Given the description of an element on the screen output the (x, y) to click on. 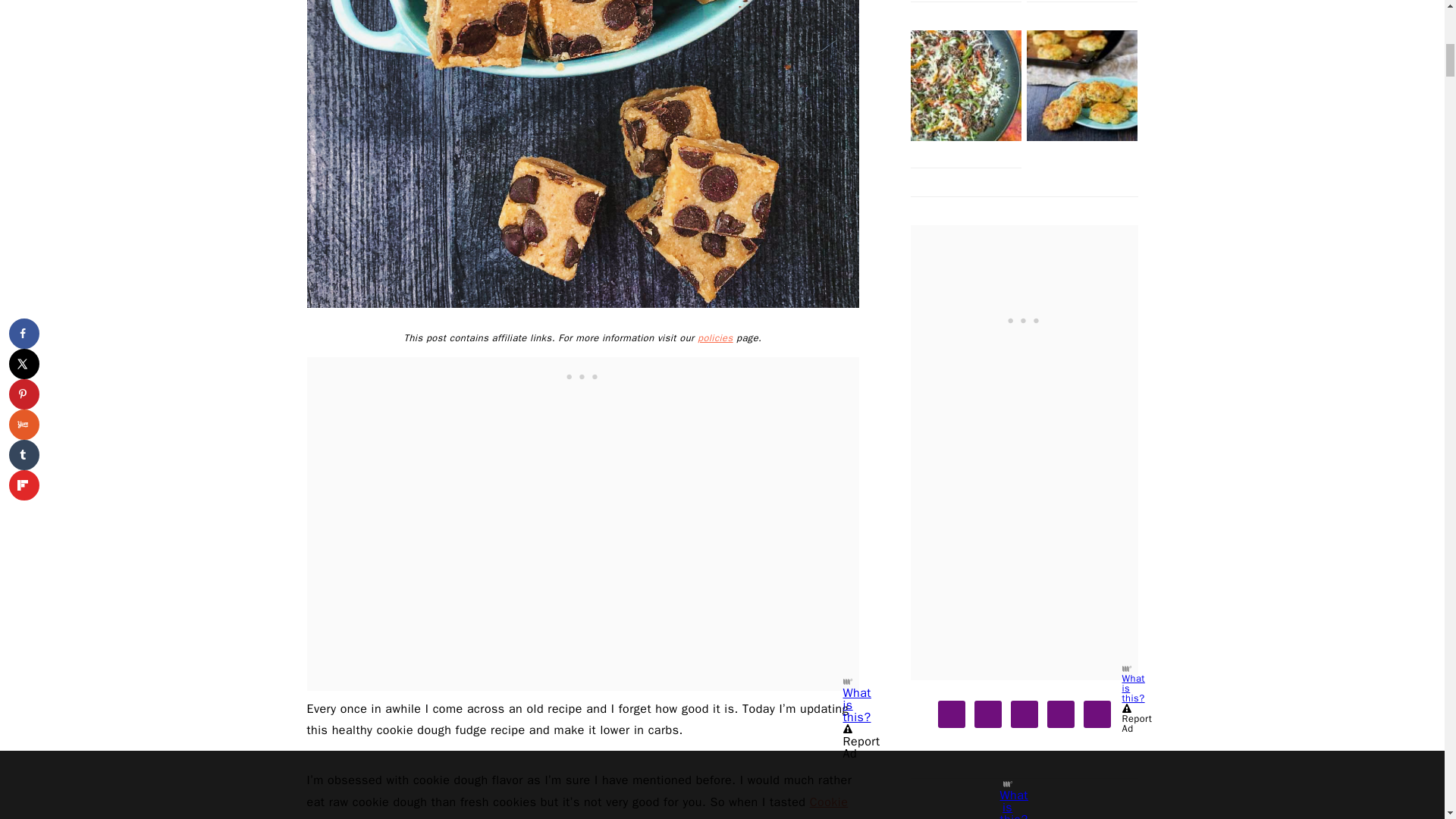
3rd party ad content (582, 375)
